Given the description of an element on the screen output the (x, y) to click on. 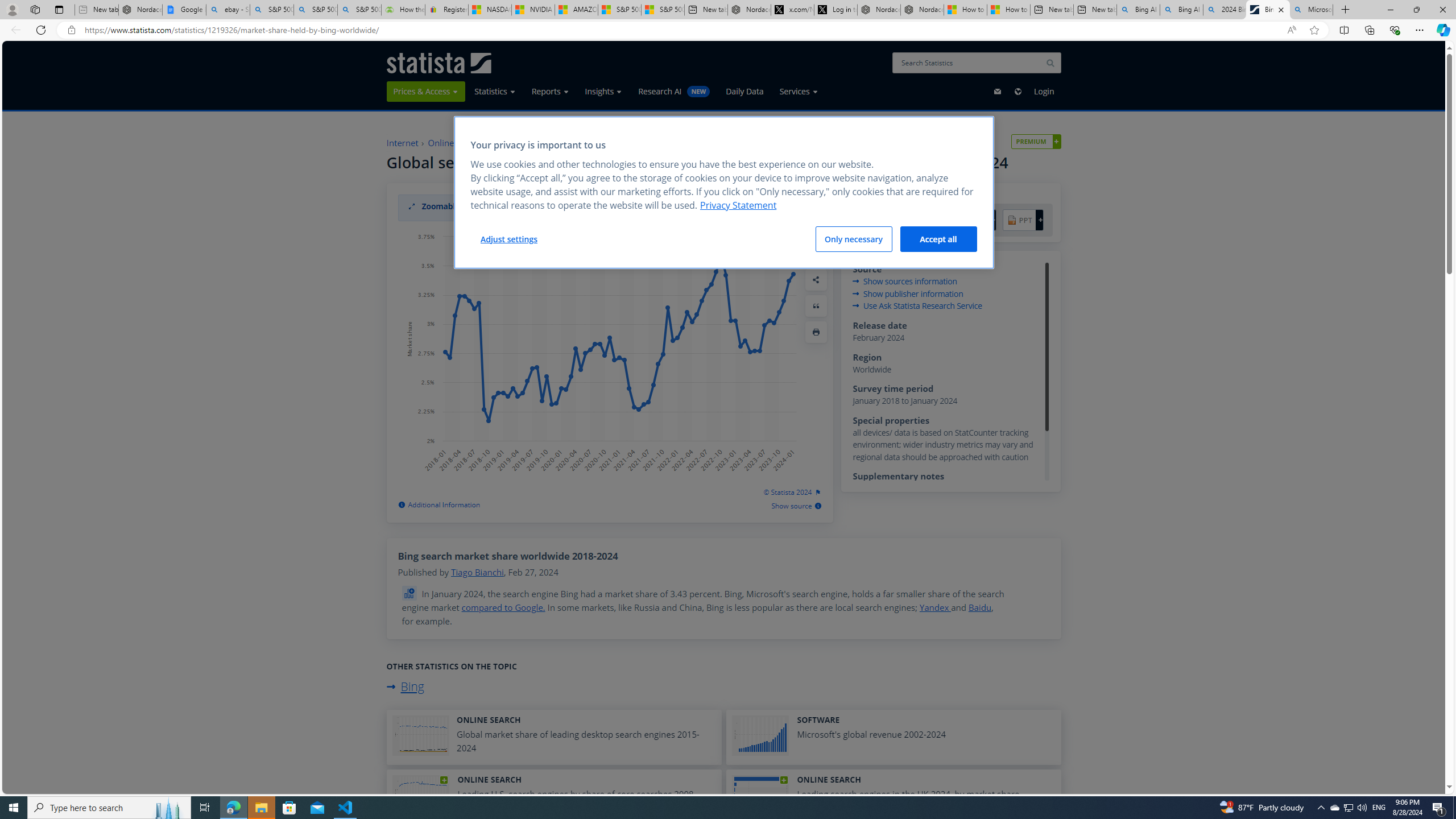
XLS + (926, 220)
Search for content (1050, 62)
Login (1043, 91)
Skip to main content (11, 47)
Prices & Access (425, 91)
 Use Ask Statista Research Service (917, 306)
Our Expert Newsletter (997, 91)
How the S&P 500 Performed During Major Market Crashes (403, 9)
Statista Homepage (438, 62)
